Given the description of an element on the screen output the (x, y) to click on. 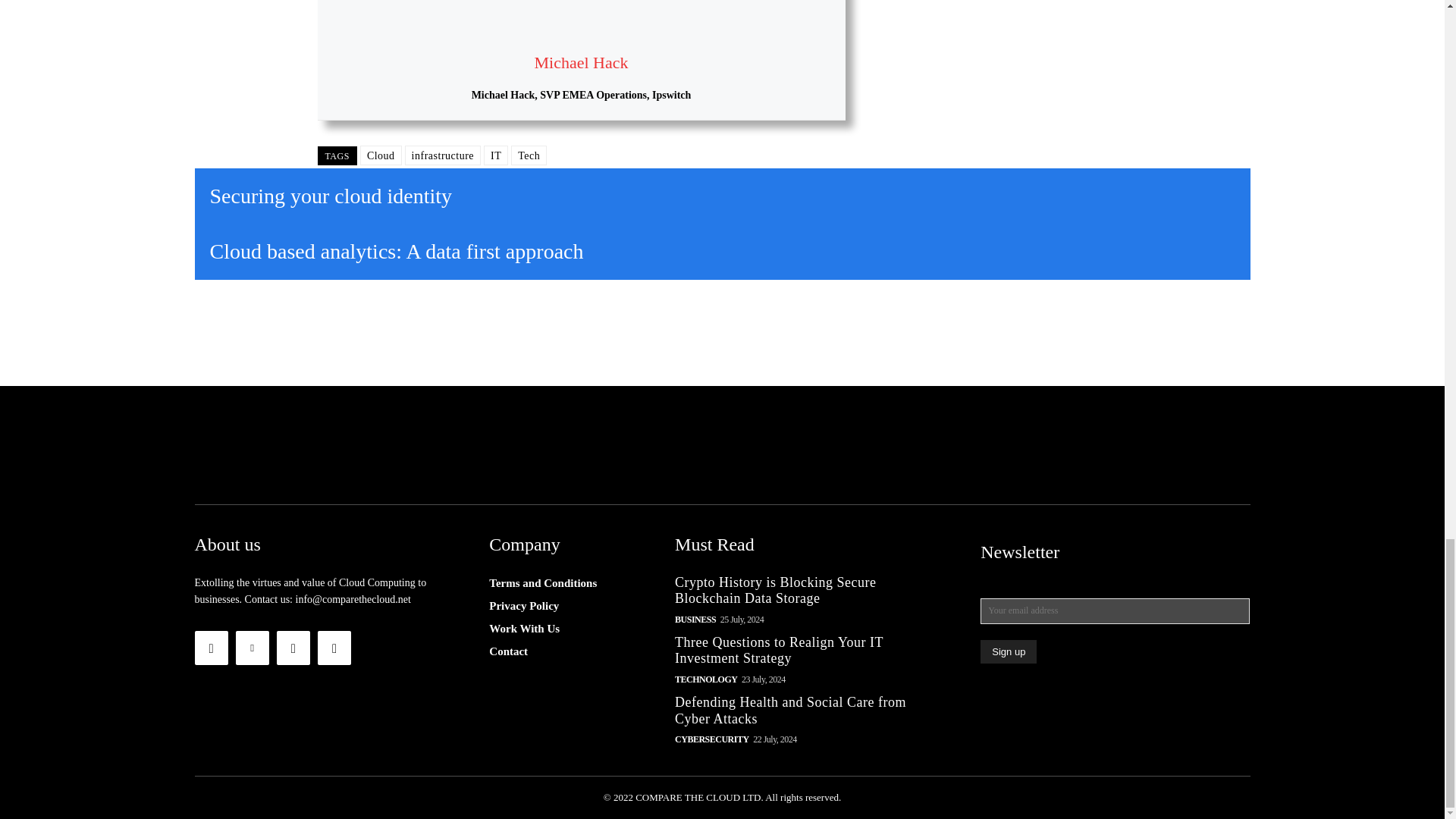
Sign up (1007, 651)
